Given the description of an element on the screen output the (x, y) to click on. 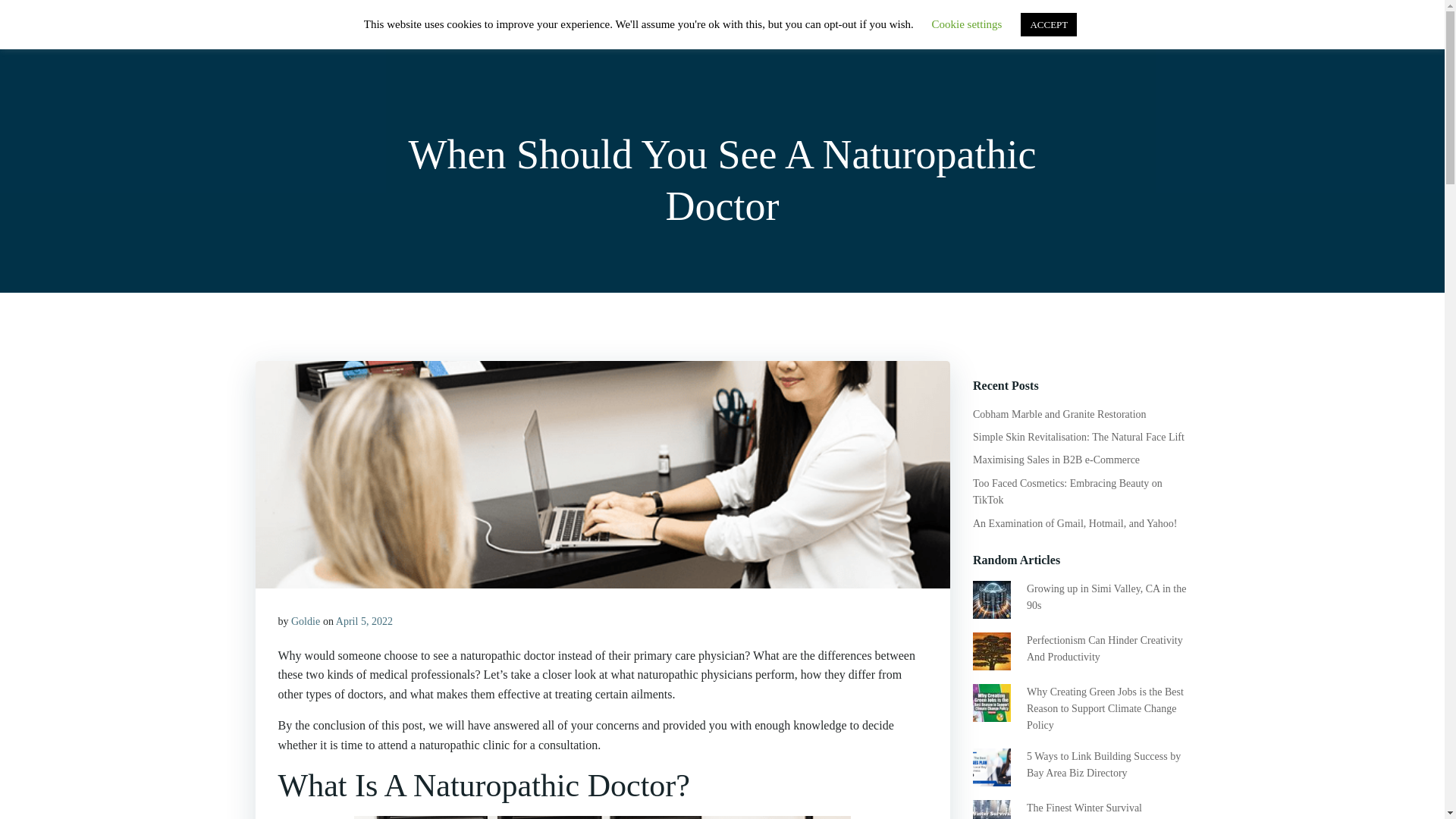
Maximising Sales in B2B e-Commerce (1056, 460)
Simple Skin Revitalisation: The Natural Face Lift (1078, 437)
Goldie (305, 621)
ARTICLES (1014, 33)
Perfectionism Can Hinder Creativity And Productivity (1104, 648)
Growing up in Simi Valley, CA in the 90s (1106, 596)
LOGIN (1088, 33)
Too Faced Cosmetics: Embracing Beauty on TikTok (1066, 491)
LEGAL (1155, 33)
April 5, 2022 (364, 621)
IDT Web (287, 28)
SHOP (942, 33)
HOME (879, 34)
An Examination of Gmail, Hotmail, and Yahoo! (1074, 523)
Cobham Marble and Granite Restoration (1059, 414)
